Given the description of an element on the screen output the (x, y) to click on. 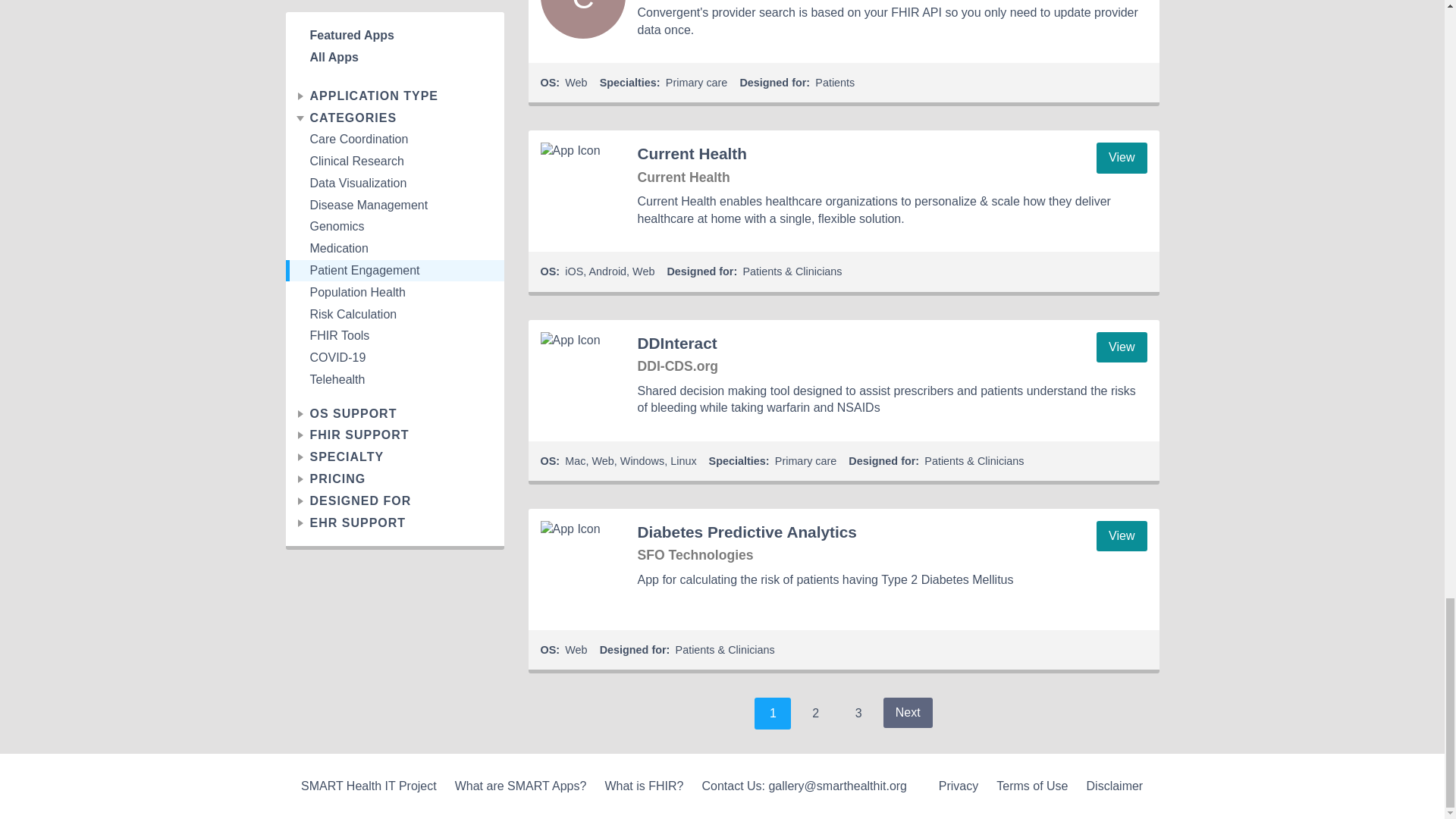
Diabetes Predictive Analytics (582, 563)
C (582, 19)
DDInteract (582, 374)
Convergent (582, 19)
Current Health (582, 184)
